Given the description of an element on the screen output the (x, y) to click on. 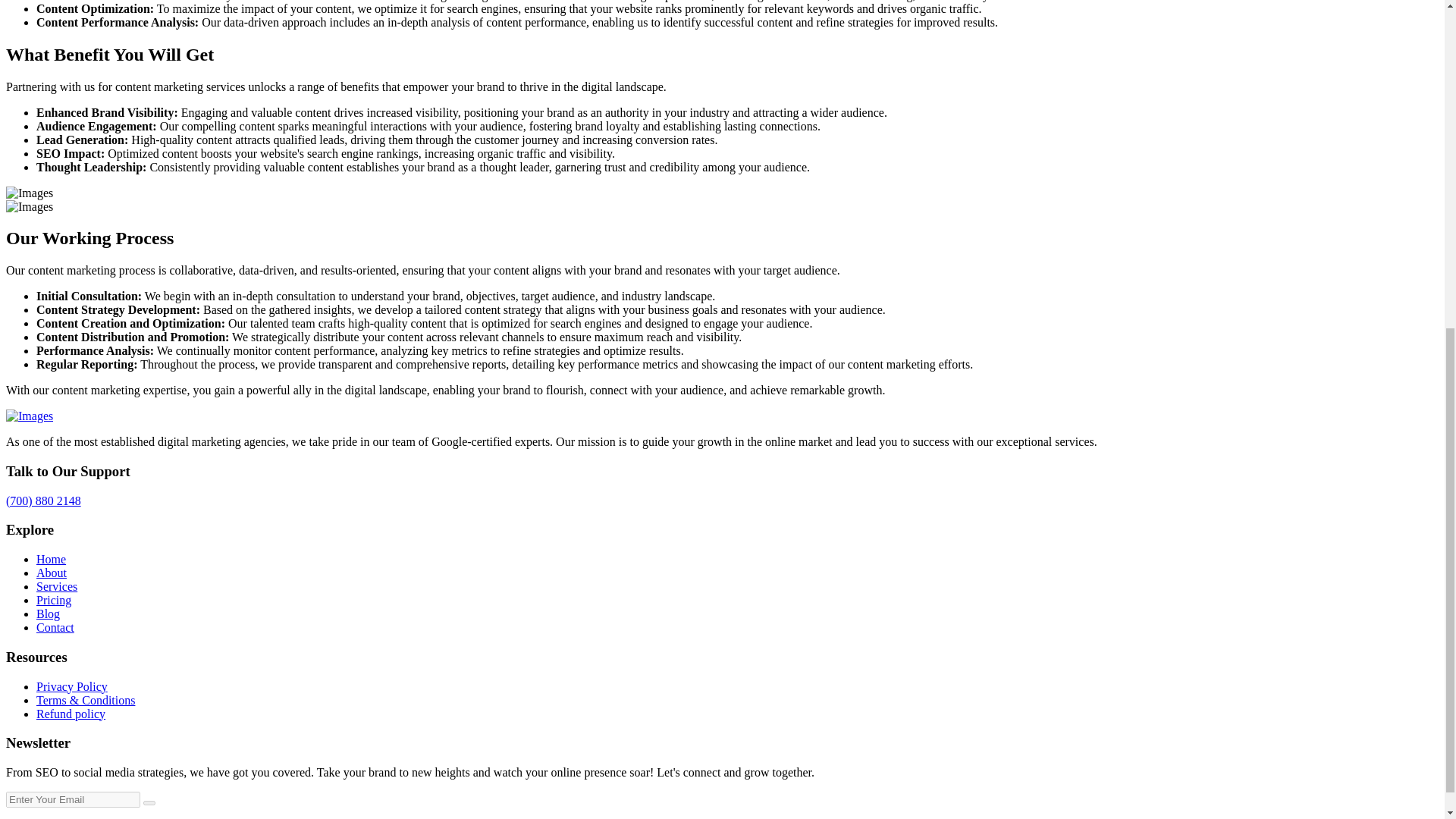
Home (50, 558)
Pricing (53, 599)
Services (56, 585)
About (51, 572)
Refund policy (70, 713)
Contact (55, 626)
Blog (47, 613)
Privacy Policy (71, 686)
